Given the description of an element on the screen output the (x, y) to click on. 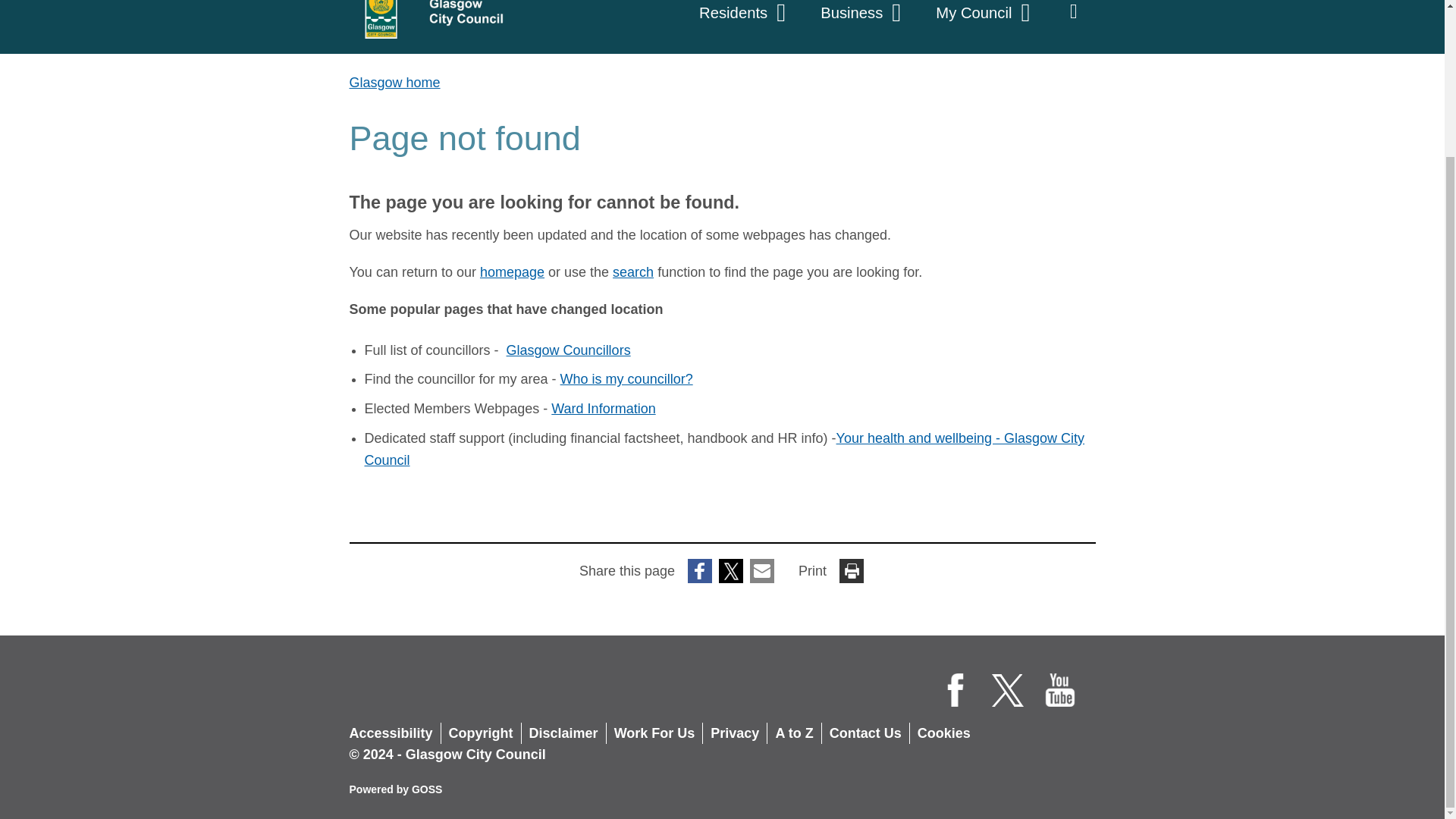
opens in a new browser window (568, 350)
opens in a new browser window (626, 378)
Facebook (955, 689)
Residents (744, 20)
Twitter (1008, 690)
YouTube (1060, 689)
